Given the description of an element on the screen output the (x, y) to click on. 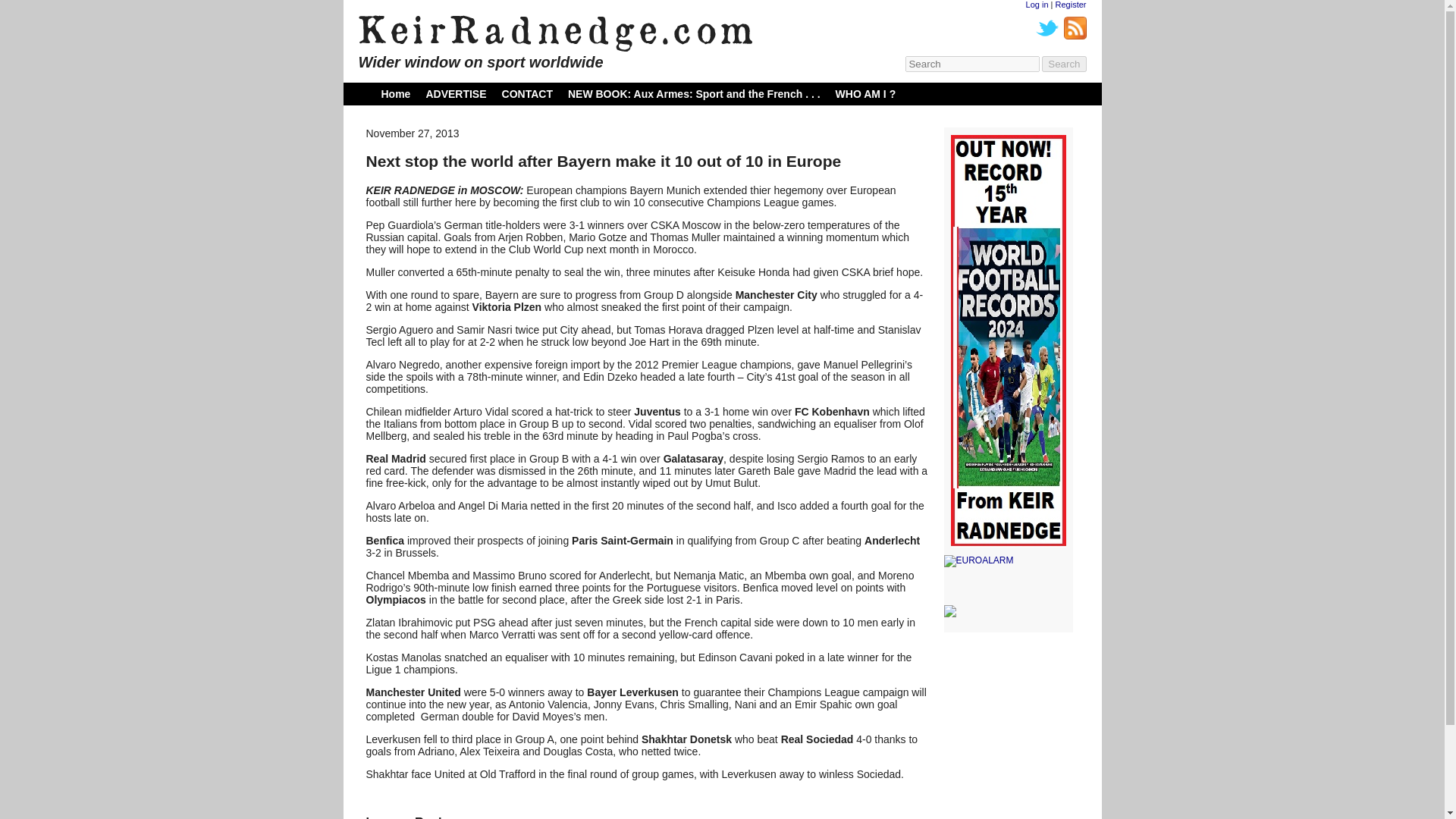
WHO AM I ? (865, 93)
CONTACT (527, 93)
Log in (1037, 4)
EUROALARM (1007, 561)
Search (1064, 64)
ADVERTISE (455, 93)
Home (395, 93)
Search (1064, 64)
NEW BOOK: Aux Armes: Sport and the French . . . (694, 93)
Register (1070, 4)
